Given the description of an element on the screen output the (x, y) to click on. 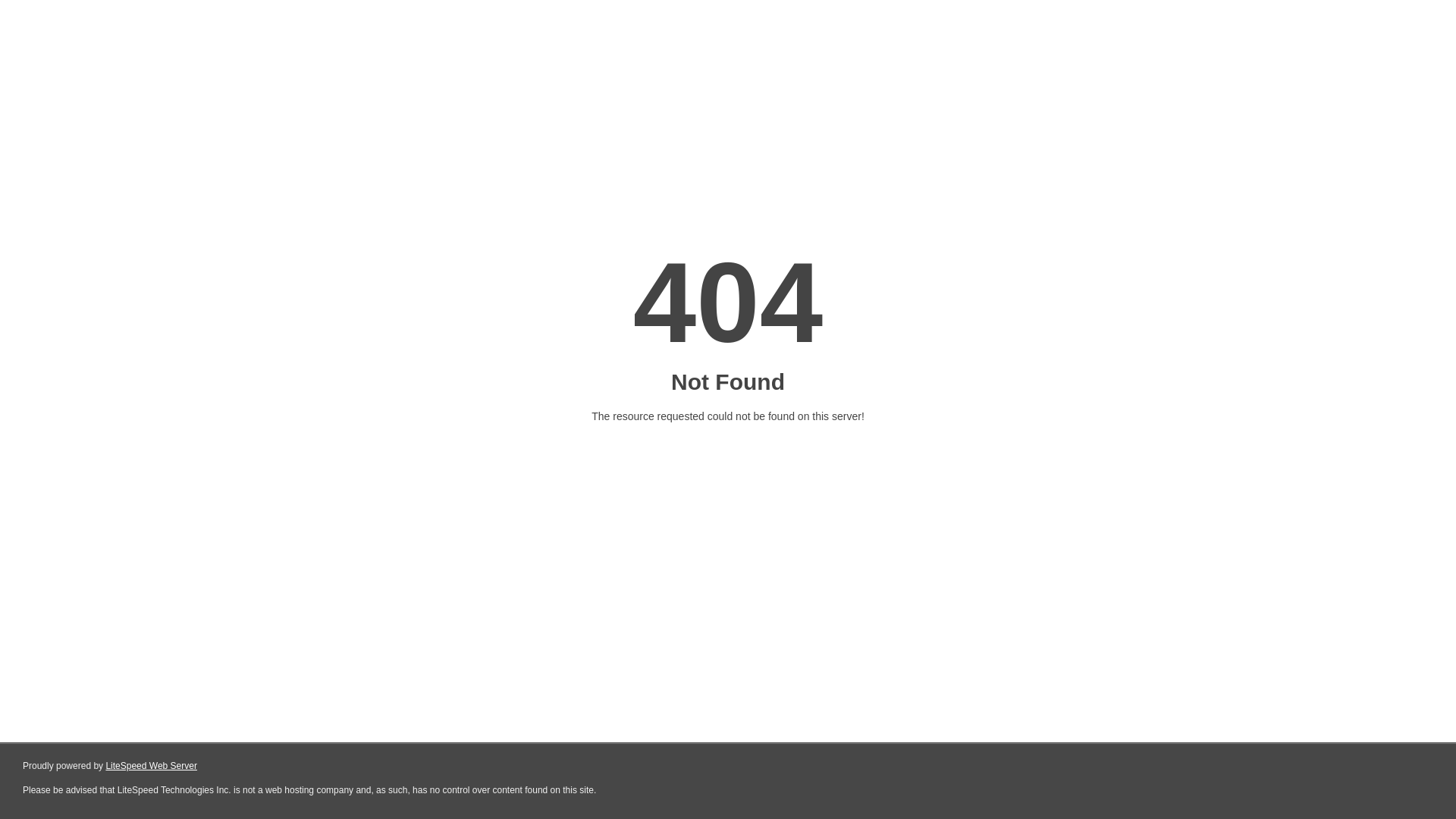
LiteSpeed Web Server Element type: text (151, 765)
